Given the description of an element on the screen output the (x, y) to click on. 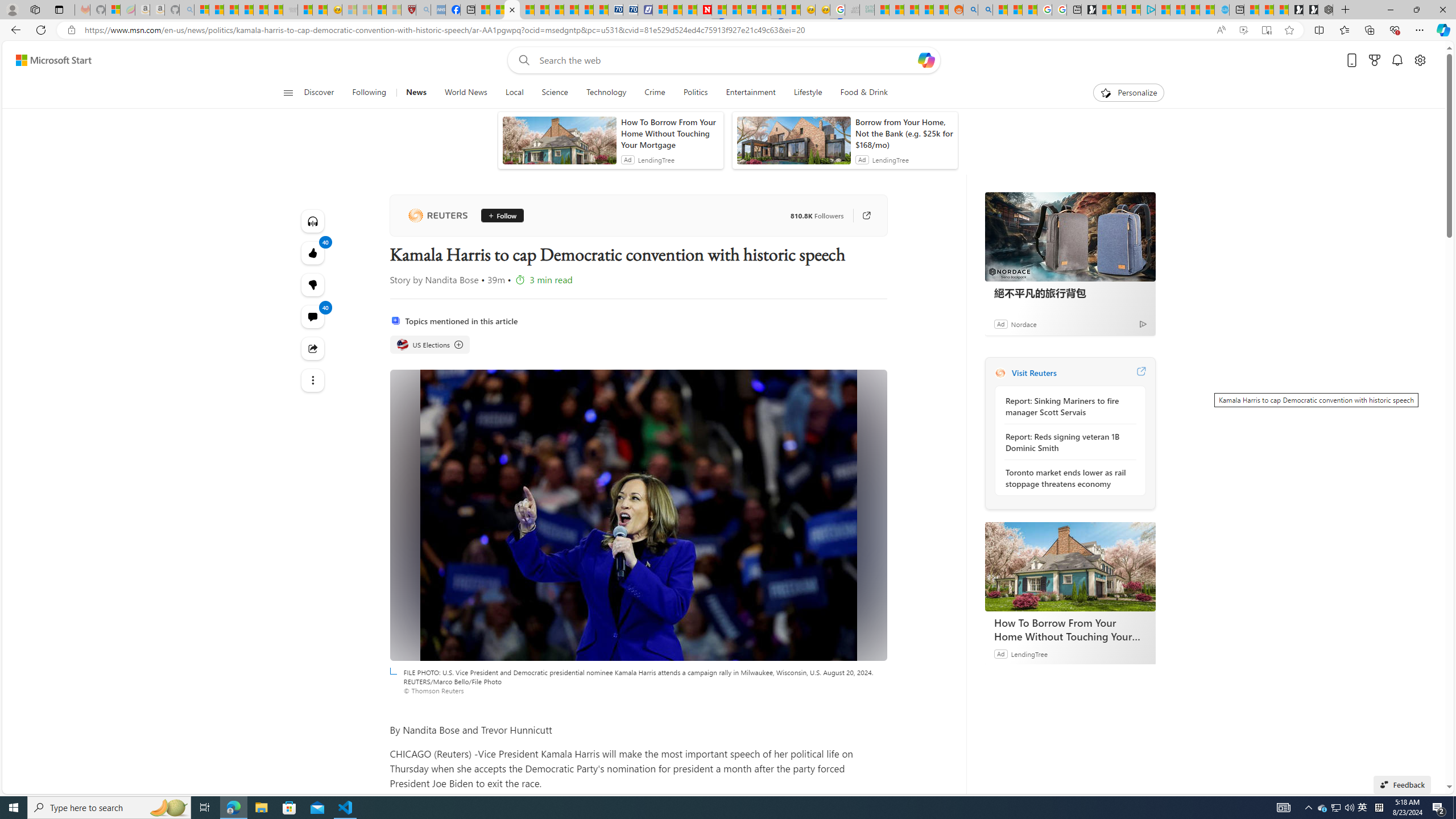
Food & Drink (859, 92)
Borrow from Your Home, Not the Bank (e.g. $25k for $168/mo) (903, 133)
14 Common Myths Debunked By Scientific Facts (733, 9)
anim-content (793, 144)
DITOGAMES AG Imprint - Sleeping (866, 9)
12 Popular Science Lies that Must be Corrected - Sleeping (393, 9)
Local (514, 92)
Visit Reuters website (1140, 372)
